Given the description of an element on the screen output the (x, y) to click on. 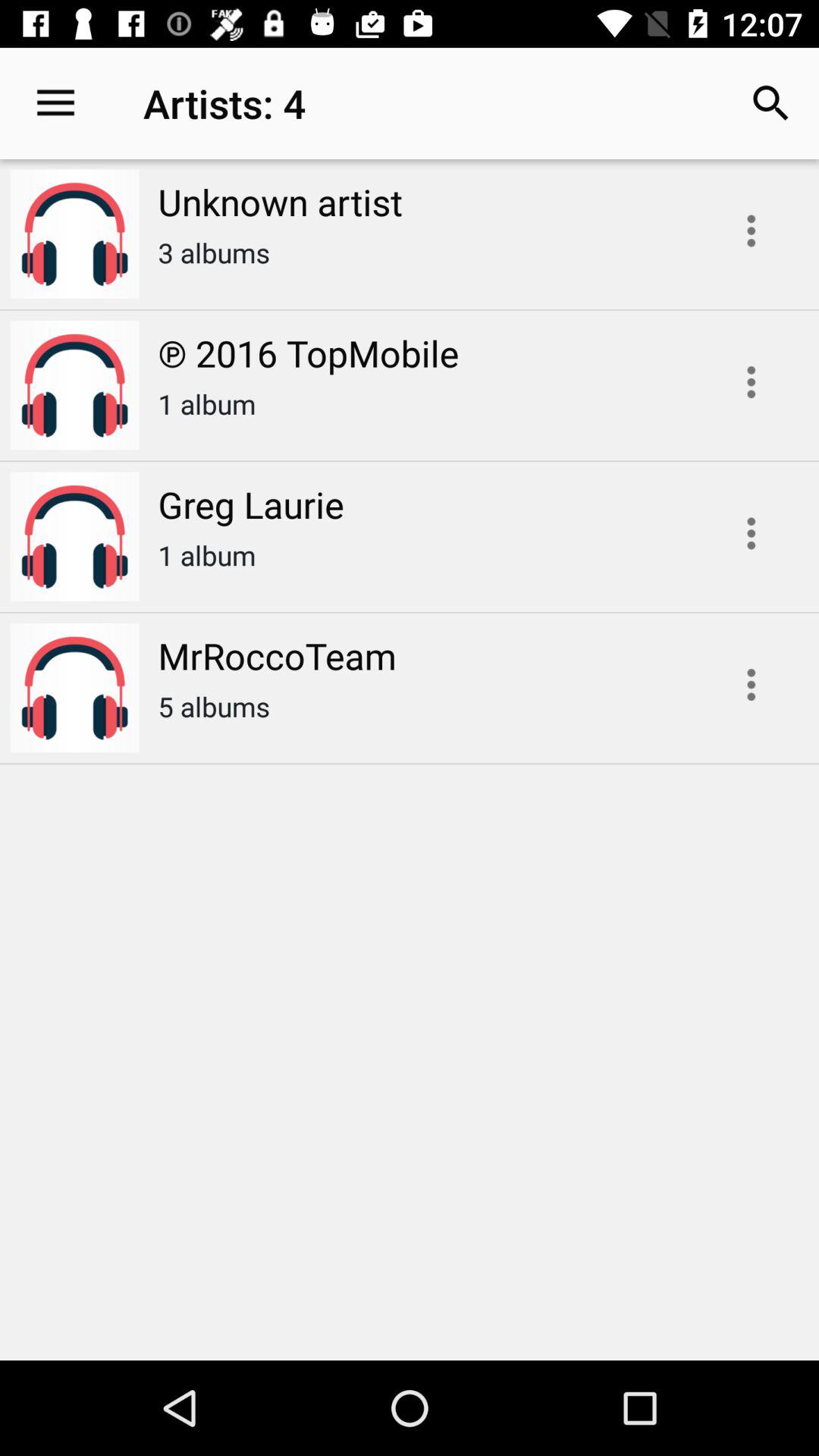
display options for artist entry (750, 533)
